Given the description of an element on the screen output the (x, y) to click on. 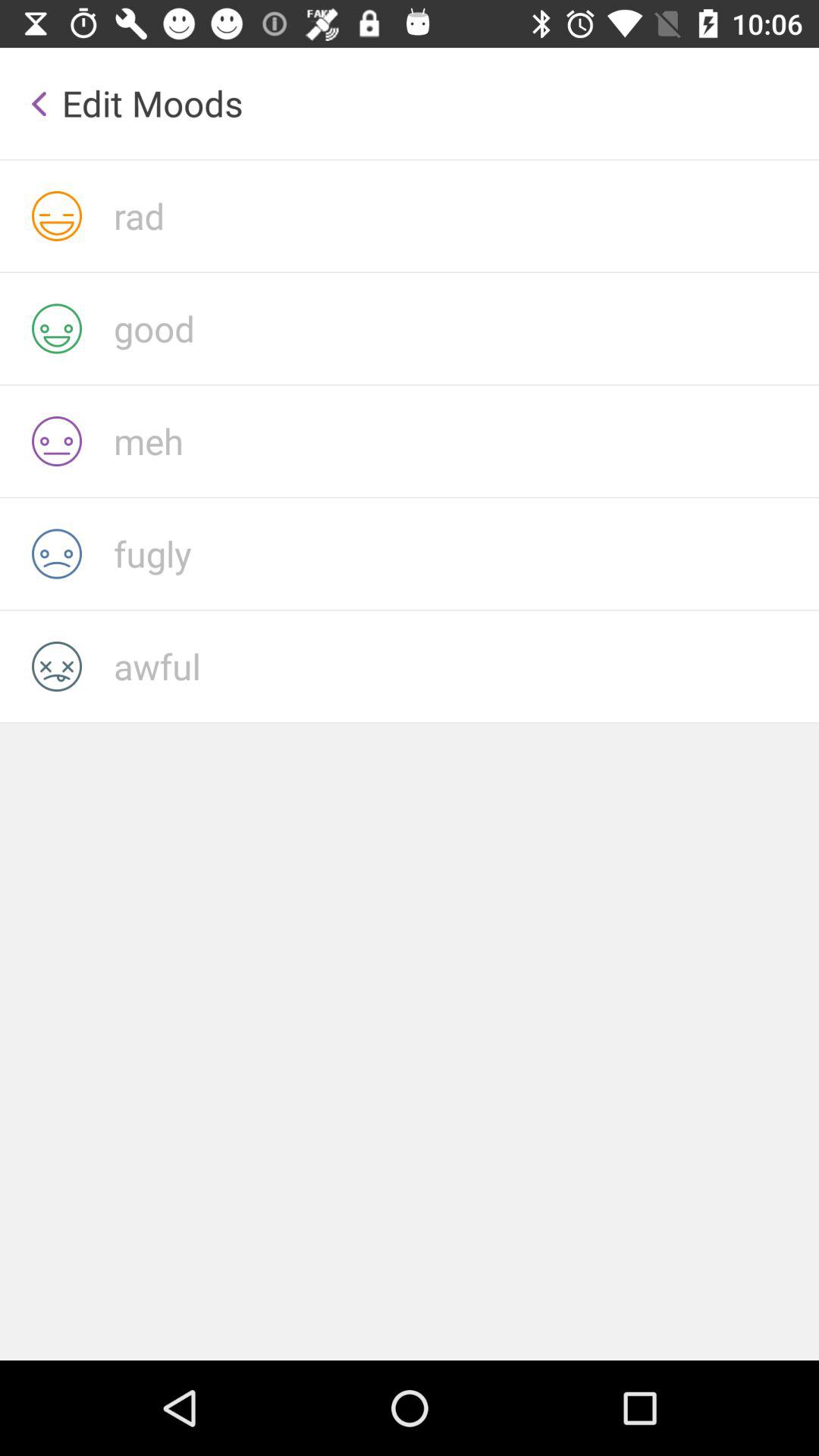
select mood (466, 328)
